Given the description of an element on the screen output the (x, y) to click on. 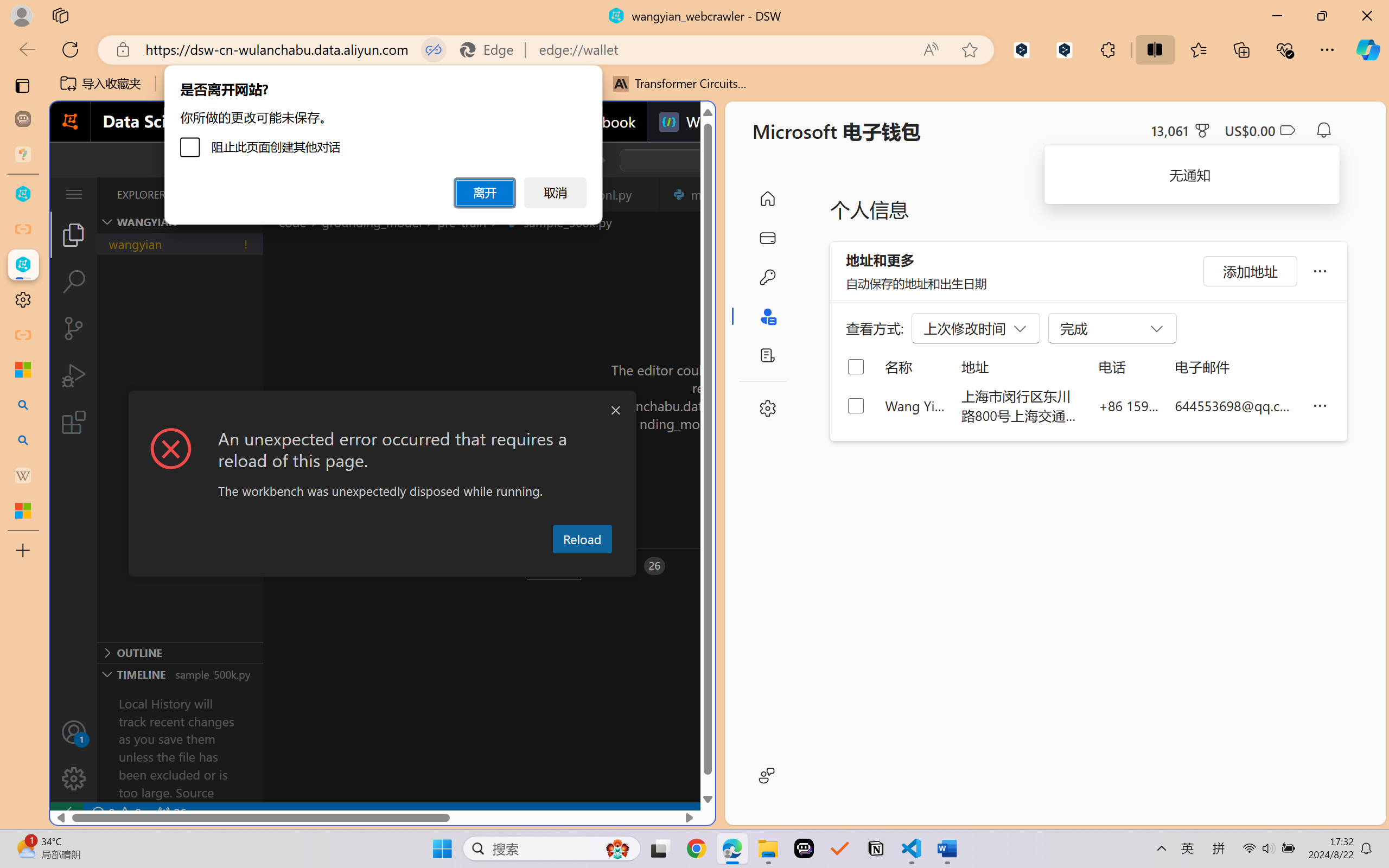
Copilot (Ctrl+Shift+.) (1368, 49)
Output (Ctrl+Shift+U) (377, 565)
Close Dialog (615, 410)
Terminal (Ctrl+`) (553, 565)
